Given the description of an element on the screen output the (x, y) to click on. 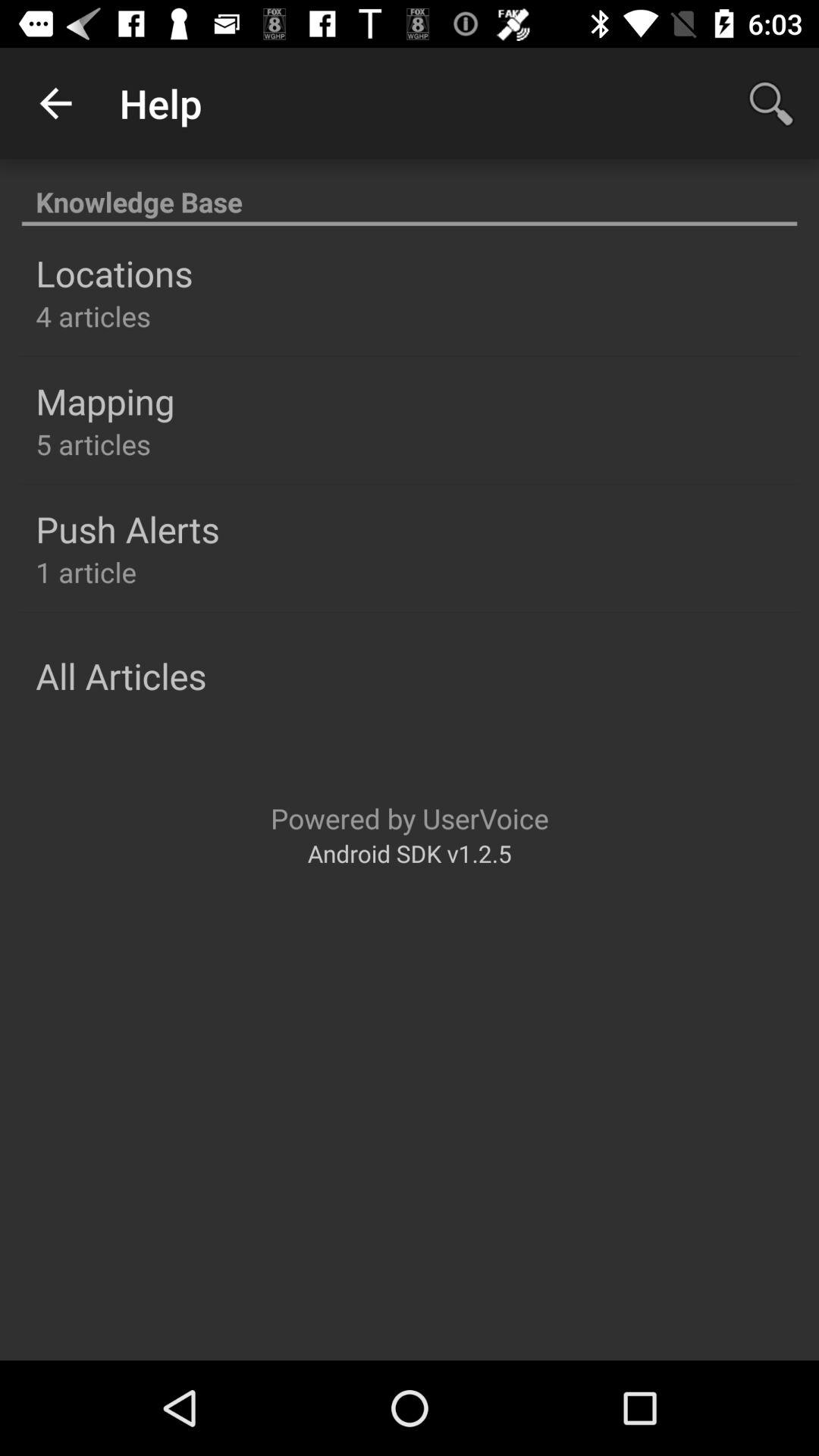
swipe until push alerts item (127, 529)
